Given the description of an element on the screen output the (x, y) to click on. 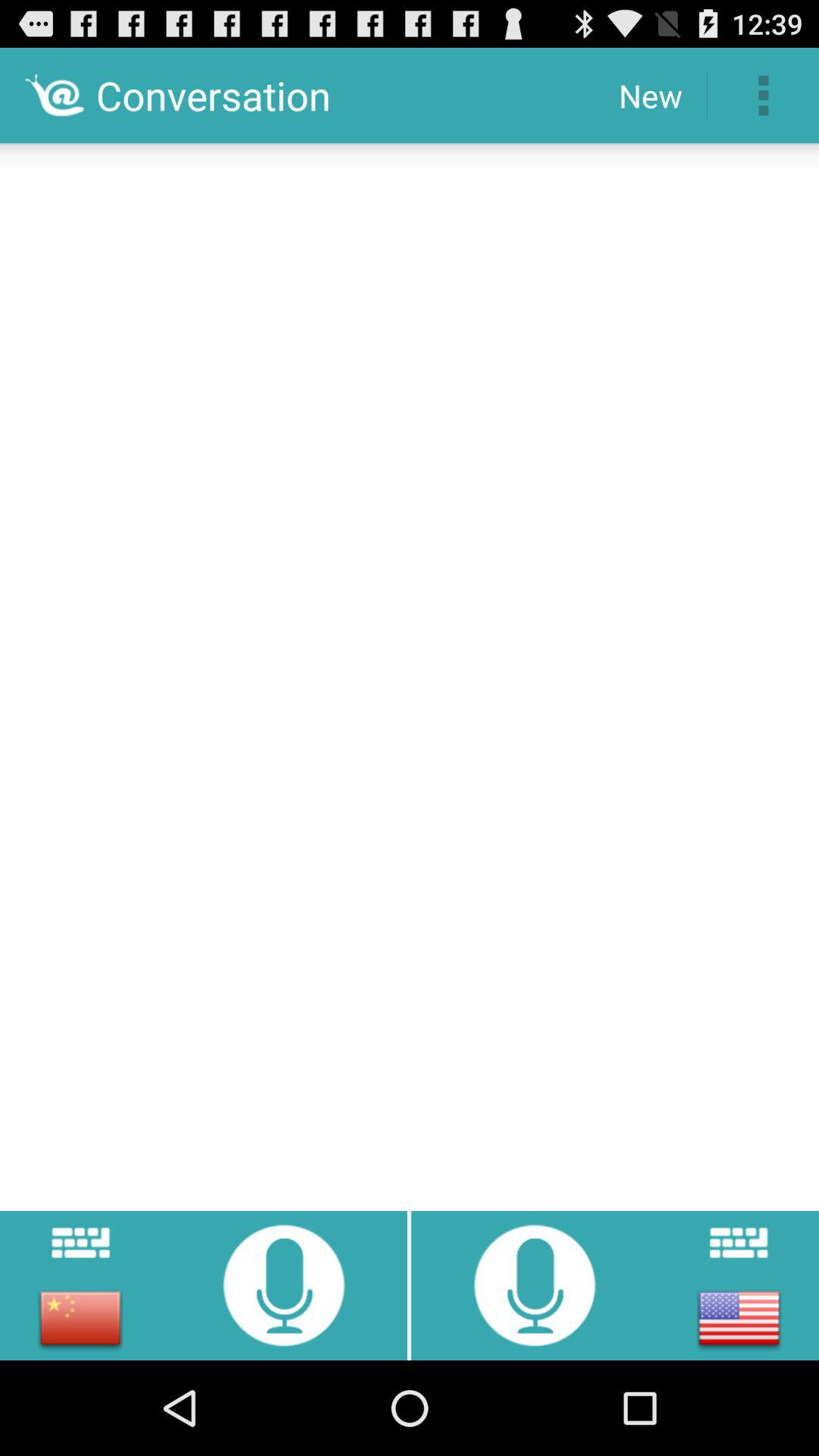
open the item at the center (409, 671)
